Given the description of an element on the screen output the (x, y) to click on. 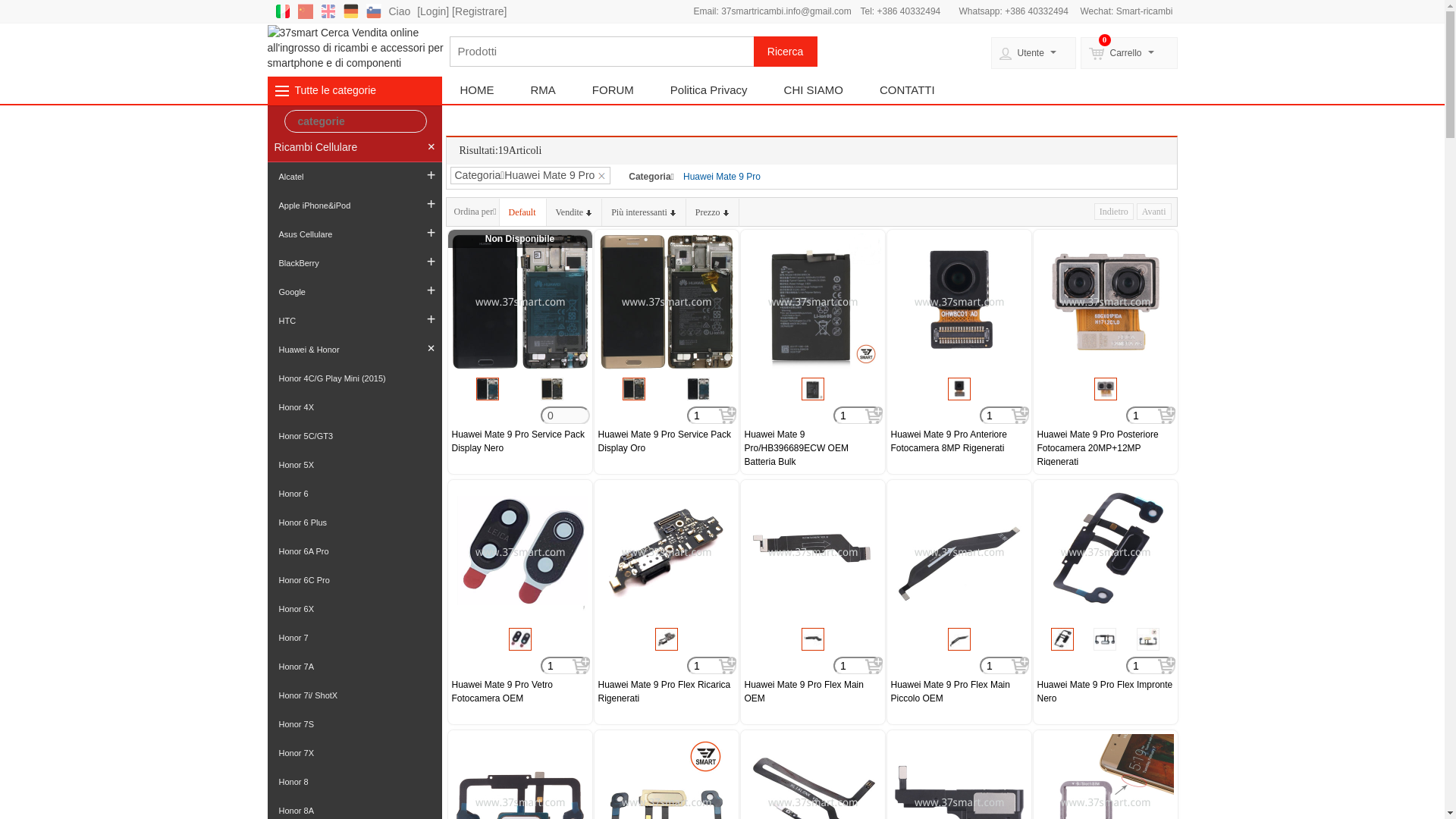
Aggiungi Element type: hover (1020, 414)
Aggiungi Element type: hover (1165, 414)
Apple iPhone&iPod
+ Element type: text (353, 205)
Slovenija Element type: hover (372, 10)
Honor 4C/G Play Mini (2015) Element type: text (353, 378)
Huawei Mate 9 Pro Flex Impronte Nero Element type: text (1105, 691)
HOME Element type: text (293, 120)
Default Element type: text (522, 211)
English Element type: hover (327, 10)
Honor 7 Element type: text (353, 637)
Tutte le categorie Element type: text (335, 89)
Registrare Element type: text (479, 11)
Aggiungi Element type: hover (1020, 665)
Honor 6C Pro Element type: text (353, 579)
HTC
+ Element type: text (353, 320)
Aggiungi Element type: hover (727, 665)
Italiano Element type: hover (281, 10)
Login Element type: text (432, 11)
Honor 7X Element type: text (353, 752)
Asus Cellulare
+ Element type: text (353, 233)
Honor 7S Element type: text (353, 723)
CHI SIAMO Element type: text (813, 89)
Carrello Element type: text (1127, 53)
Honor 7i/ ShotX Element type: text (353, 694)
Aggiungi Element type: hover (872, 414)
Huawei & Honor
+ Element type: text (353, 349)
Huawei Mate 9 Pro Flex Main Piccolo OEM Element type: text (958, 691)
Politica Privacy Element type: text (708, 89)
Aggiungi Element type: hover (727, 414)
Deutschland Element type: hover (350, 10)
Alcatel
+ Element type: text (353, 176)
Huawei Mate 9 Pro Element type: text (721, 176)
Aggiungi Element type: hover (580, 665)
PrezzoPrezzoSequenza Element type: text (712, 211)
Aggiungi Element type: hover (872, 665)
HOME Element type: text (476, 89)
37smartricambi.info@gmail.com Element type: text (786, 11)
Huawei Mate 9 Pro/HB396689ECW OEM Batteria Bulk Element type: text (812, 446)
Honor 8 Element type: text (353, 781)
Huawei Mate 9 Pro Service Pack Display Oro Element type: text (665, 441)
Huawei Mate 9 Pro Flex Main OEM Element type: text (812, 691)
Honor 6X Element type: text (353, 608)
Honor 5X Element type: text (353, 464)
BlackBerry
+ Element type: text (353, 262)
Google
+ Element type: text (353, 291)
VenditeVenditeSequenza Element type: text (574, 211)
Huawei Mate 9 Pro Posteriore Fotocamera 20MP+12MP Rigenerati Element type: text (1105, 446)
Aggiungi Element type: hover (1165, 665)
Huawei Mate 9 Pro Service Pack Display Nero Element type: text (519, 441)
Huawei Mate 9 Pro Anteriore Fotocamera 8MP Rigenerati Element type: text (958, 441)
Honor 6A Pro Element type: text (353, 550)
Huawei Mate 9 Pro Flex Ricarica Rigenerati Element type: text (665, 691)
Huawei Mate 9 Pro Vetro Fotocamera OEM Element type: text (519, 691)
FORUM Element type: text (613, 89)
Honor 5C/GT3 Element type: text (353, 435)
Cronologia Element type: text (354, 461)
Honor 7A Element type: text (353, 666)
RMA Element type: text (543, 89)
Ricambi Cellulare
+ Element type: text (353, 147)
Honor 6 Plus Element type: text (353, 522)
Ricerca Element type: text (785, 51)
CONTATTI Element type: text (907, 89)
Honor 6 Element type: text (353, 493)
Honor 4X Element type: text (353, 406)
